Given the description of an element on the screen output the (x, y) to click on. 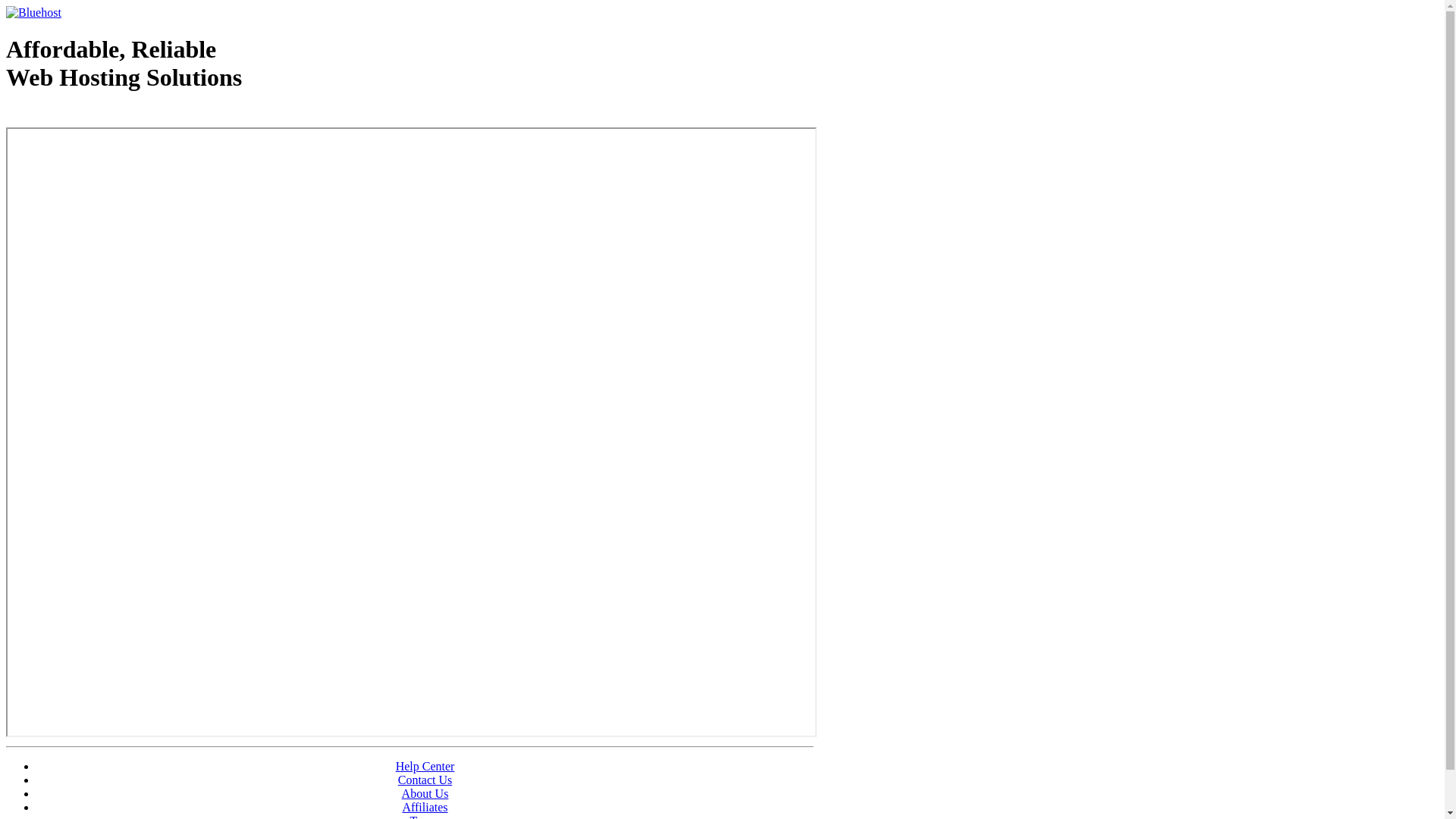
Affiliates Element type: text (424, 806)
Contact Us Element type: text (425, 779)
About Us Element type: text (424, 793)
Web Hosting - courtesy of www.bluehost.com Element type: text (94, 115)
Help Center Element type: text (425, 765)
